Given the description of an element on the screen output the (x, y) to click on. 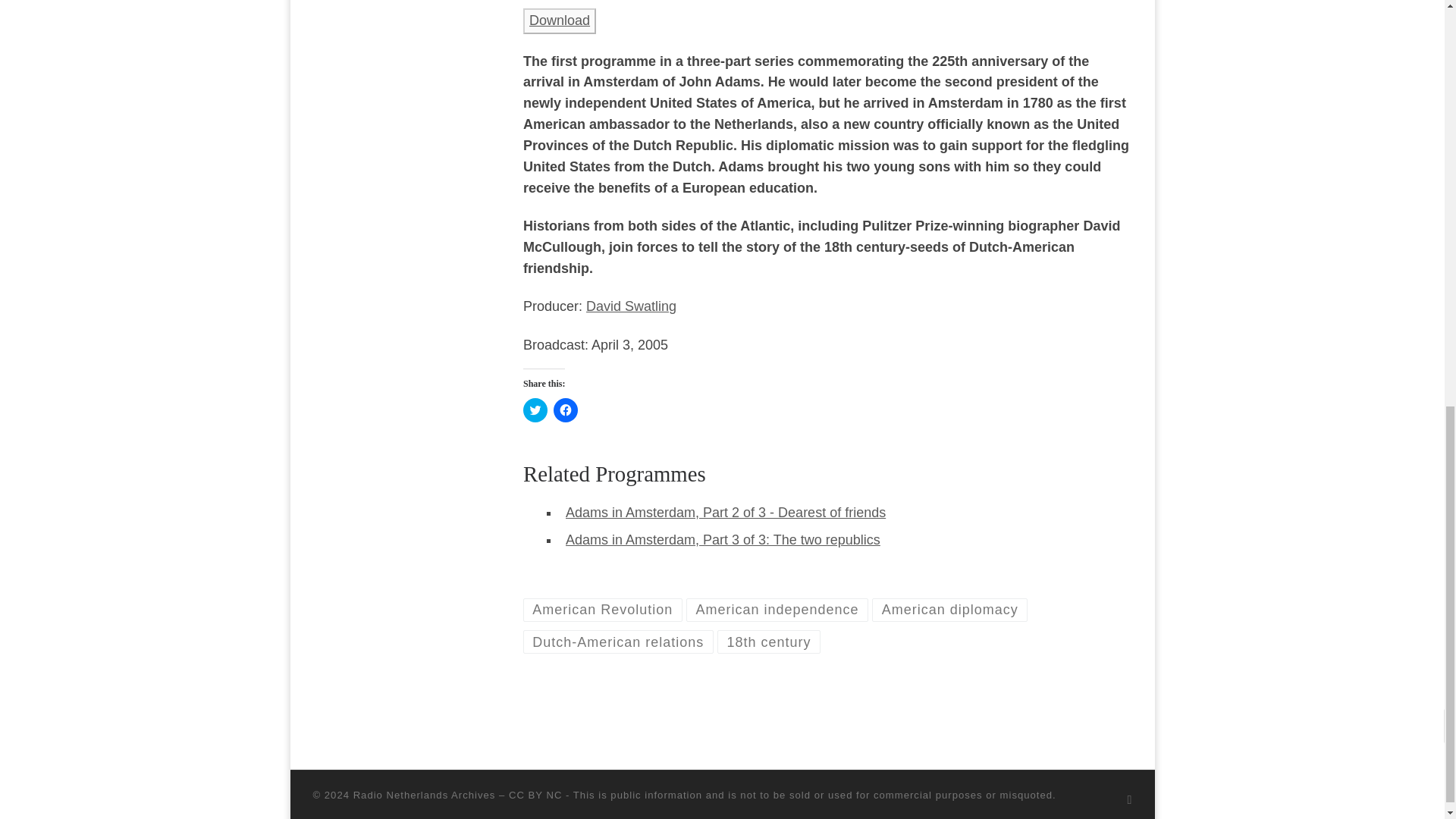
Click to share on Twitter (534, 410)
Click to share on Facebook (565, 410)
Dutch-American relations (617, 641)
Download (559, 20)
Adams in Amsterdam, Part 2 of 3 - Dearest of friends (725, 512)
Adams in Amsterdam, Part 3 of 3: The two republics (723, 539)
David Swatling (631, 305)
View all posts in Dutch-American relations (617, 641)
View all posts in American independence (776, 609)
View all posts in American diplomacy (949, 609)
View all posts in 18th century (769, 641)
Download (558, 21)
American Revolution (602, 609)
View all posts in American Revolution (602, 609)
18th century (769, 641)
